Given the description of an element on the screen output the (x, y) to click on. 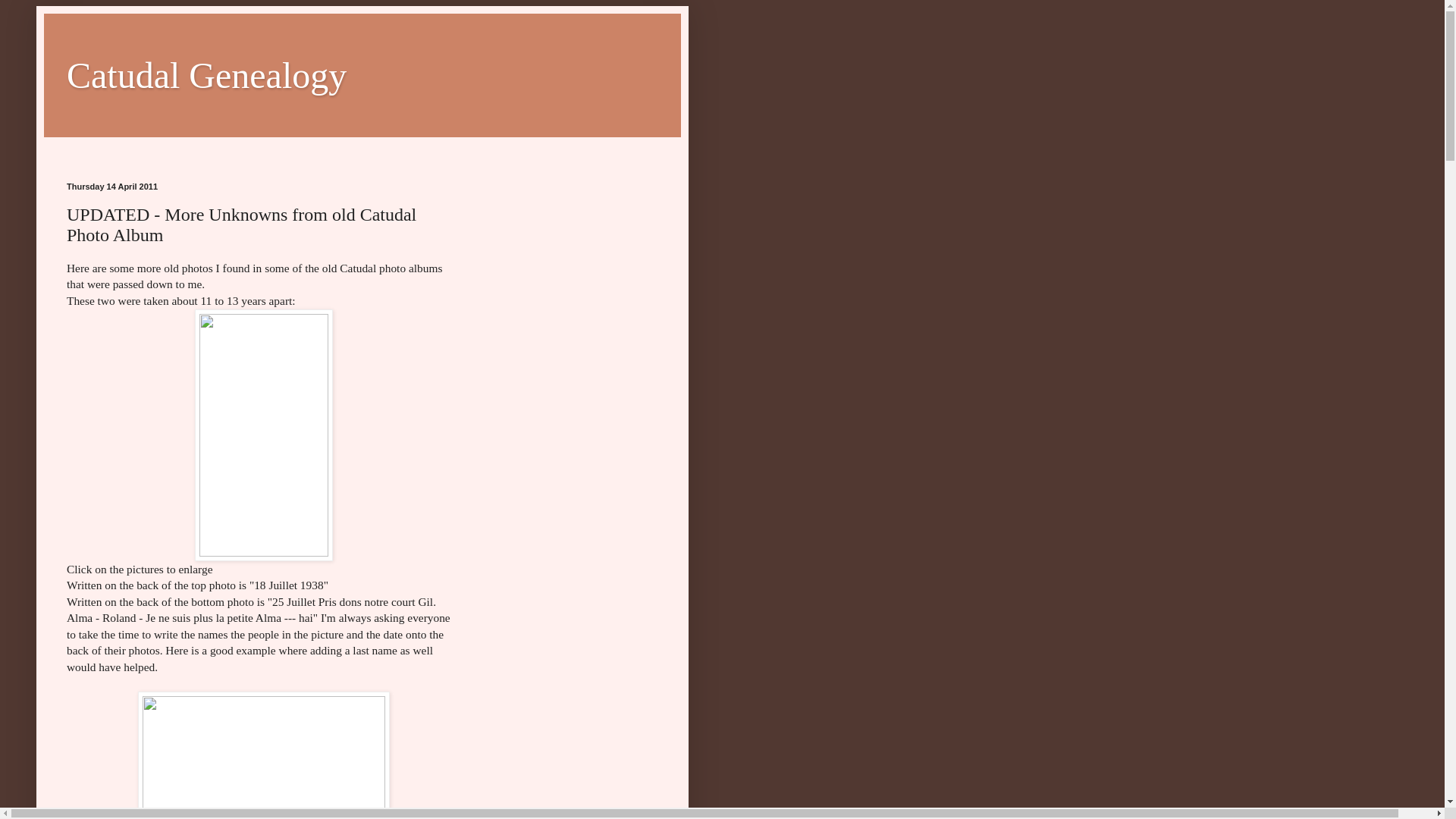
Catudal Genealogy (206, 75)
